Given the description of an element on the screen output the (x, y) to click on. 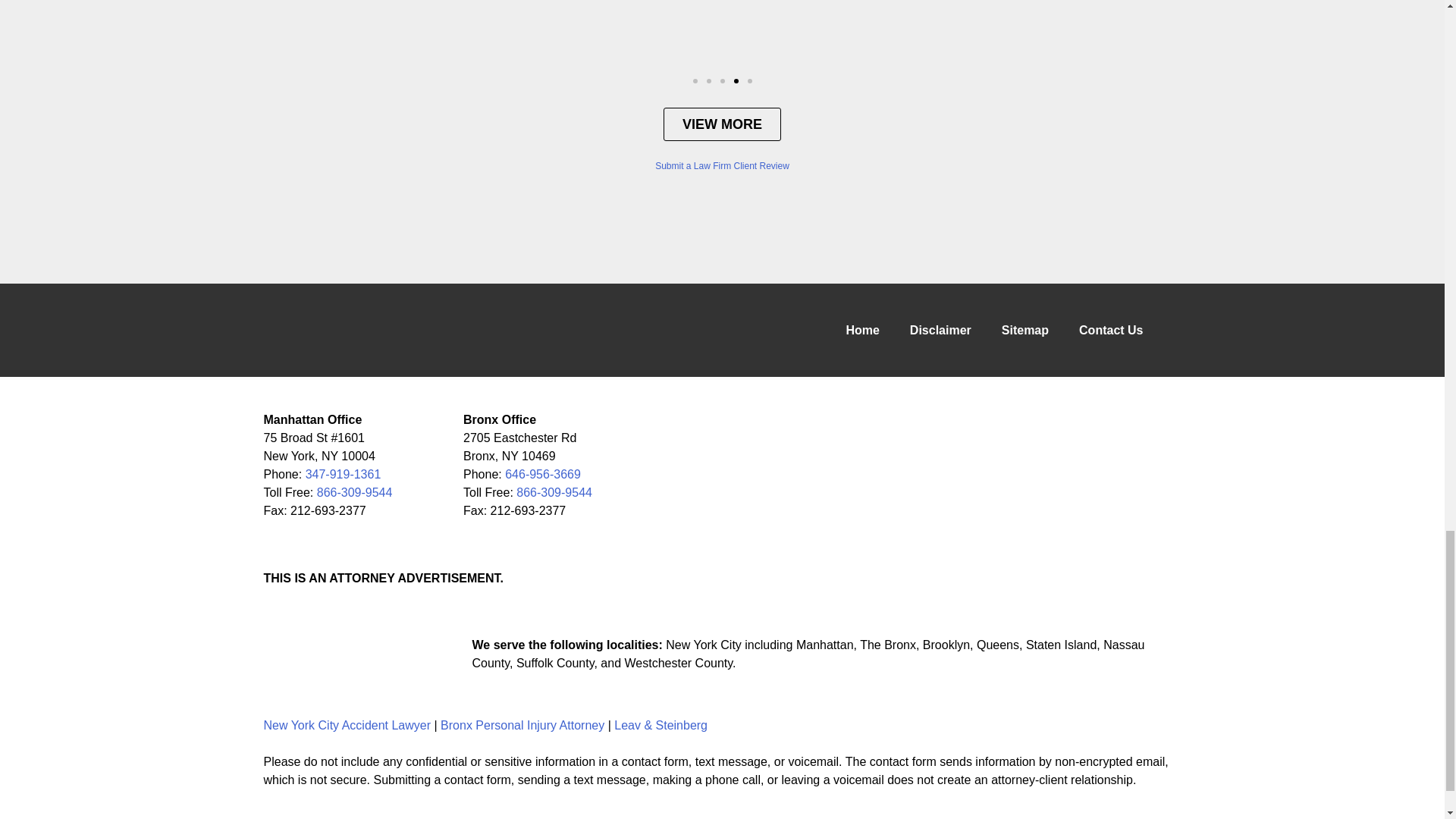
facebook-icon.png (279, 653)
linkedin-icon.png (350, 653)
twitter-icon.png (314, 653)
instagram-icon.png (422, 653)
justia-icon.png (385, 653)
